Given the description of an element on the screen output the (x, y) to click on. 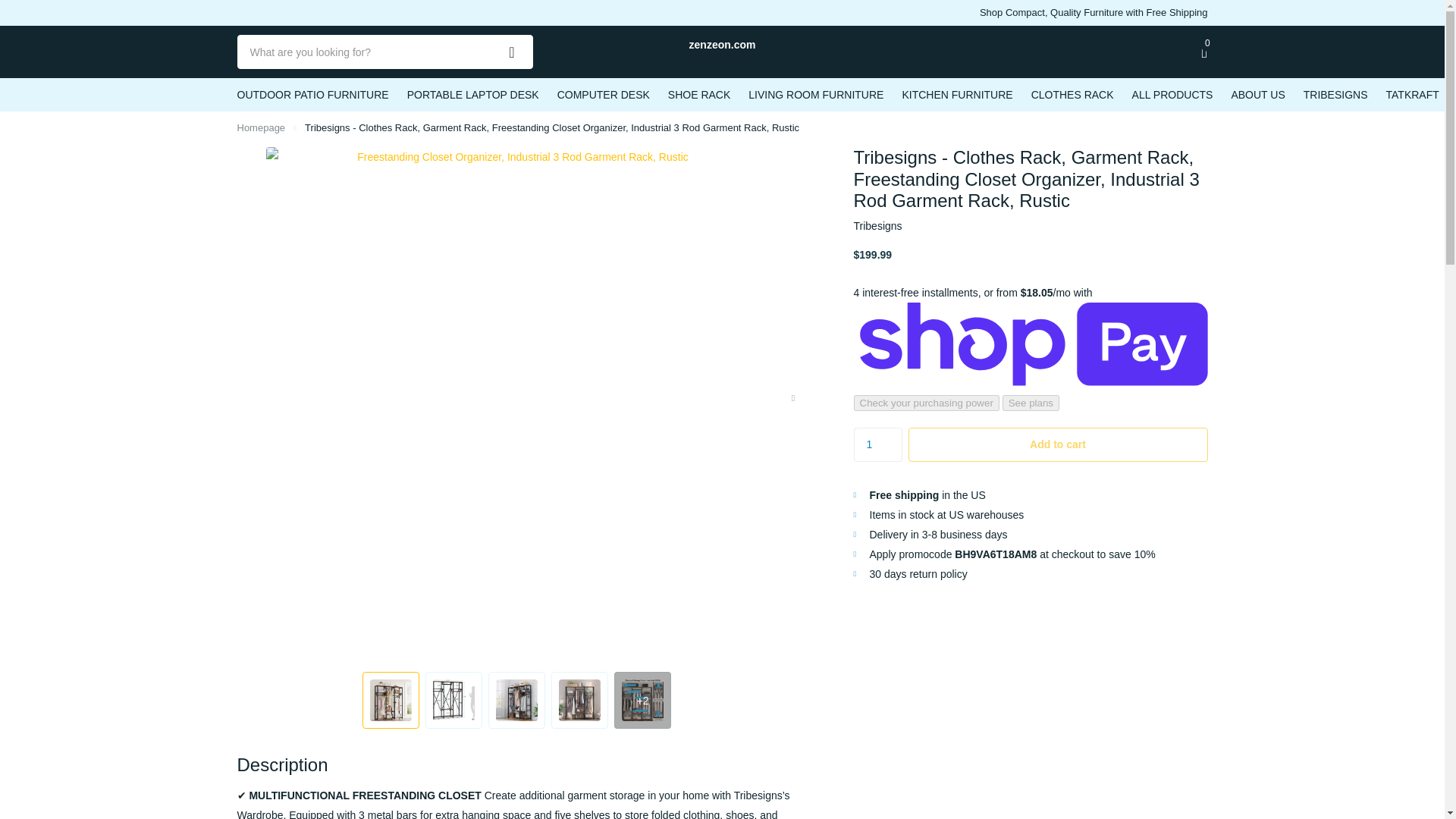
Home (260, 127)
PORTABLE LAPTOP DESK (472, 94)
1 (877, 444)
Shop Compact, Quality Furniture with Free Shipping (1093, 12)
OUTDOOR PATIO FURNITURE (311, 94)
COMPUTER DESK (603, 94)
Zoeken (512, 51)
